Given the description of an element on the screen output the (x, y) to click on. 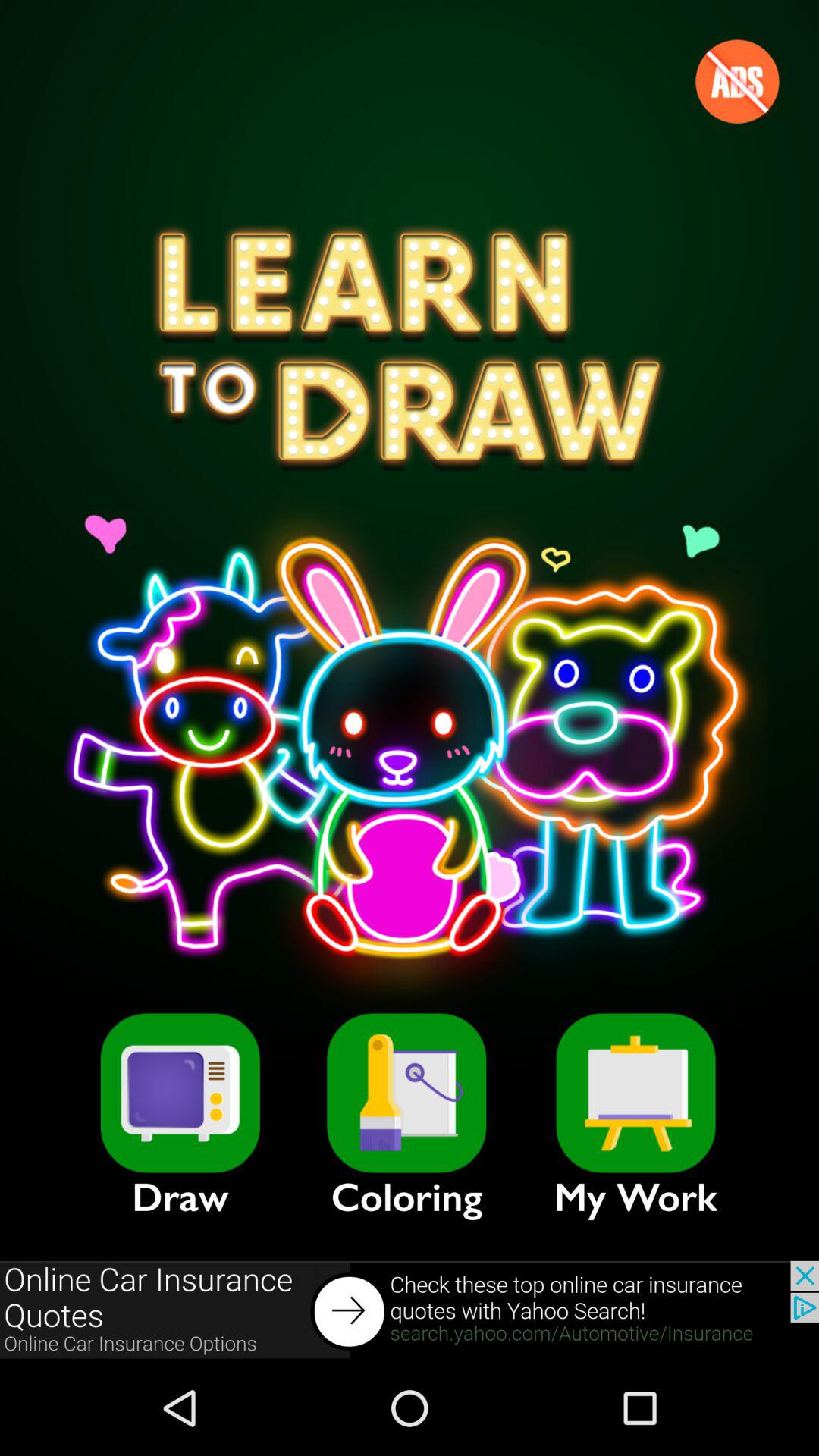
my work (635, 1092)
